Given the description of an element on the screen output the (x, y) to click on. 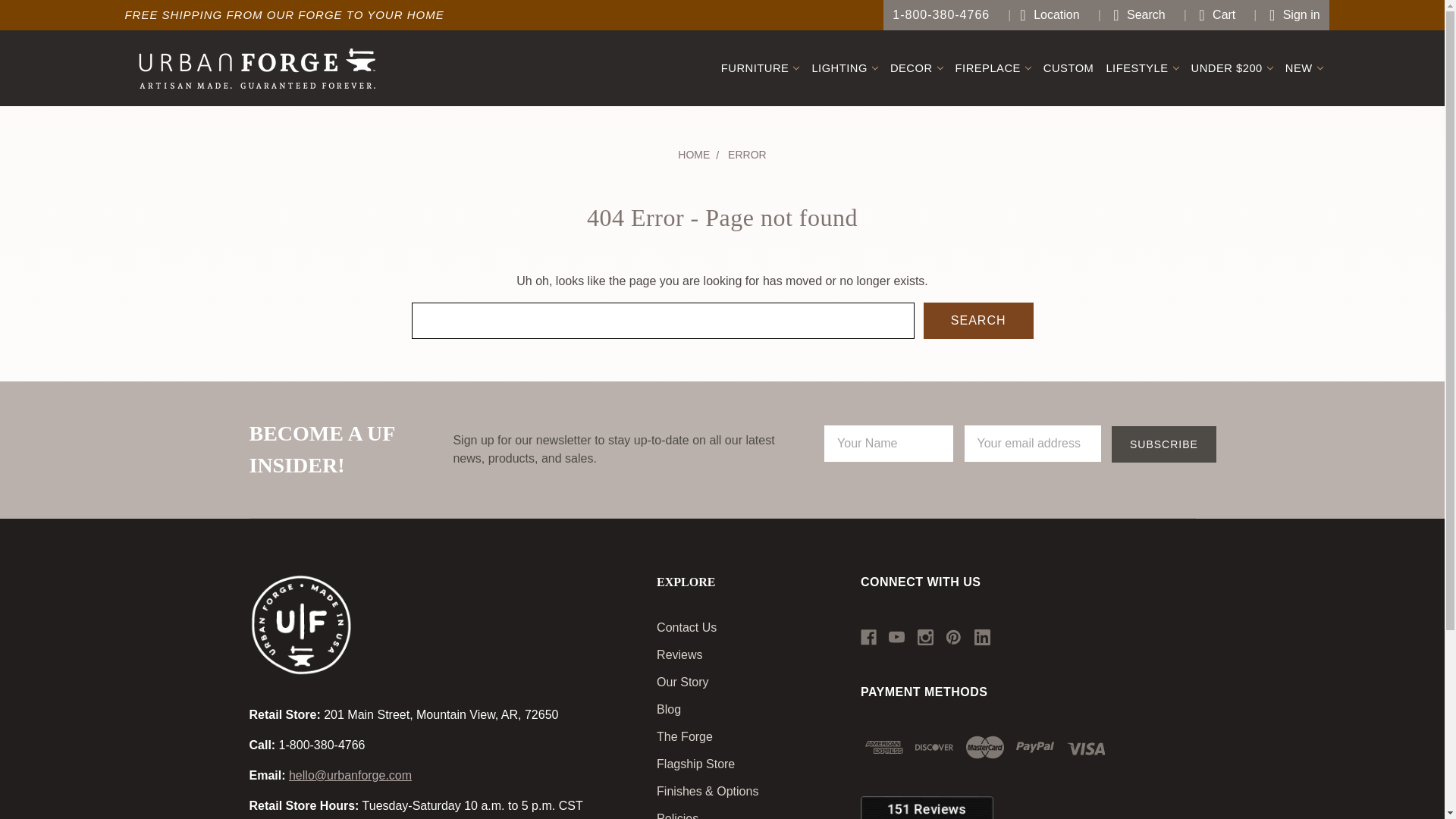
Urban Forge (299, 624)
LIGHTING (844, 68)
FURNITURE (760, 68)
Search (1131, 15)
Sign in (1285, 15)
Subscribe (1163, 443)
Location (1042, 15)
Urban Forge (256, 67)
1-800-380-4766 (940, 15)
Search (978, 320)
